Given the description of an element on the screen output the (x, y) to click on. 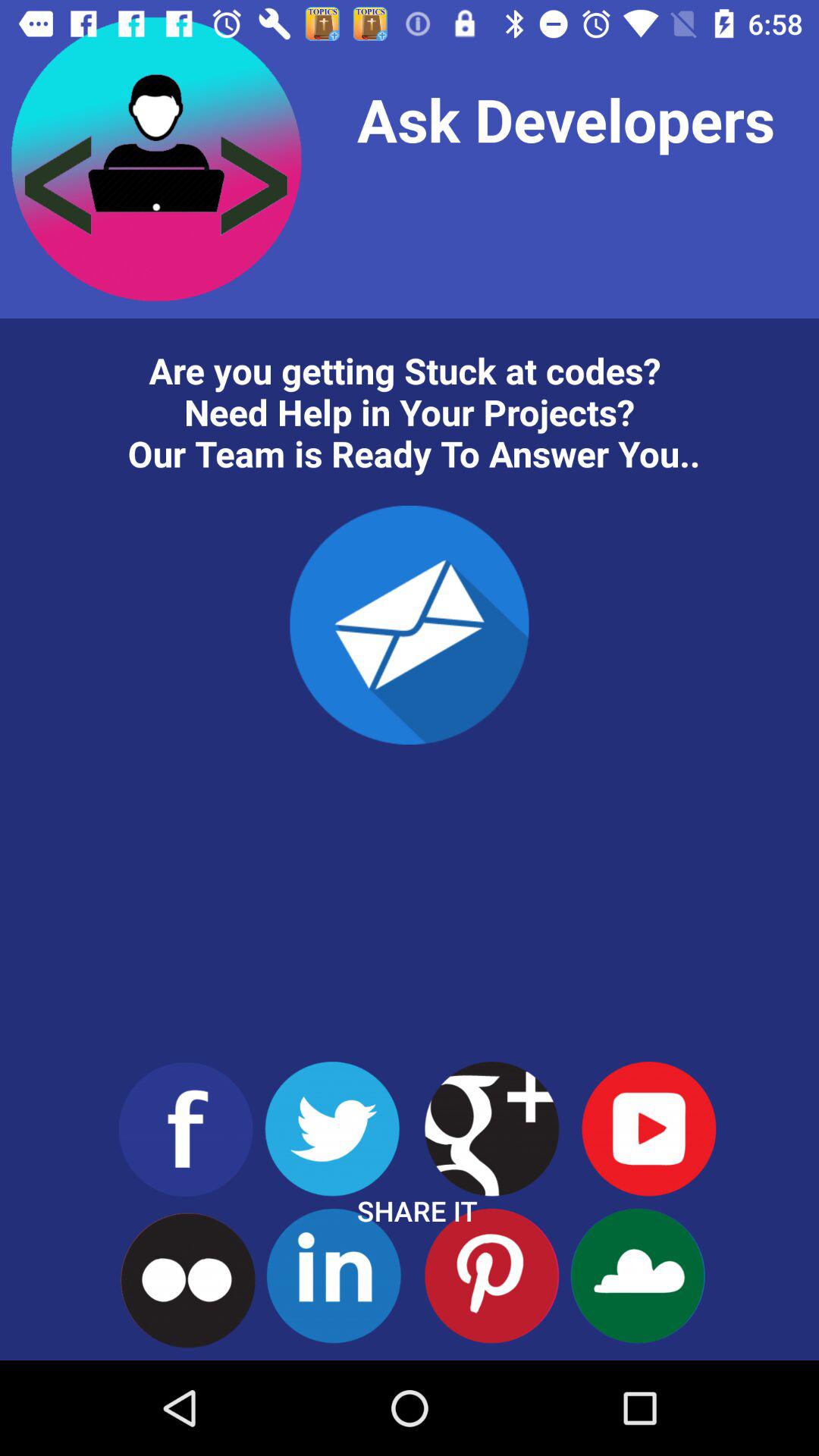
press the icon above share it (409, 624)
